Given the description of an element on the screen output the (x, y) to click on. 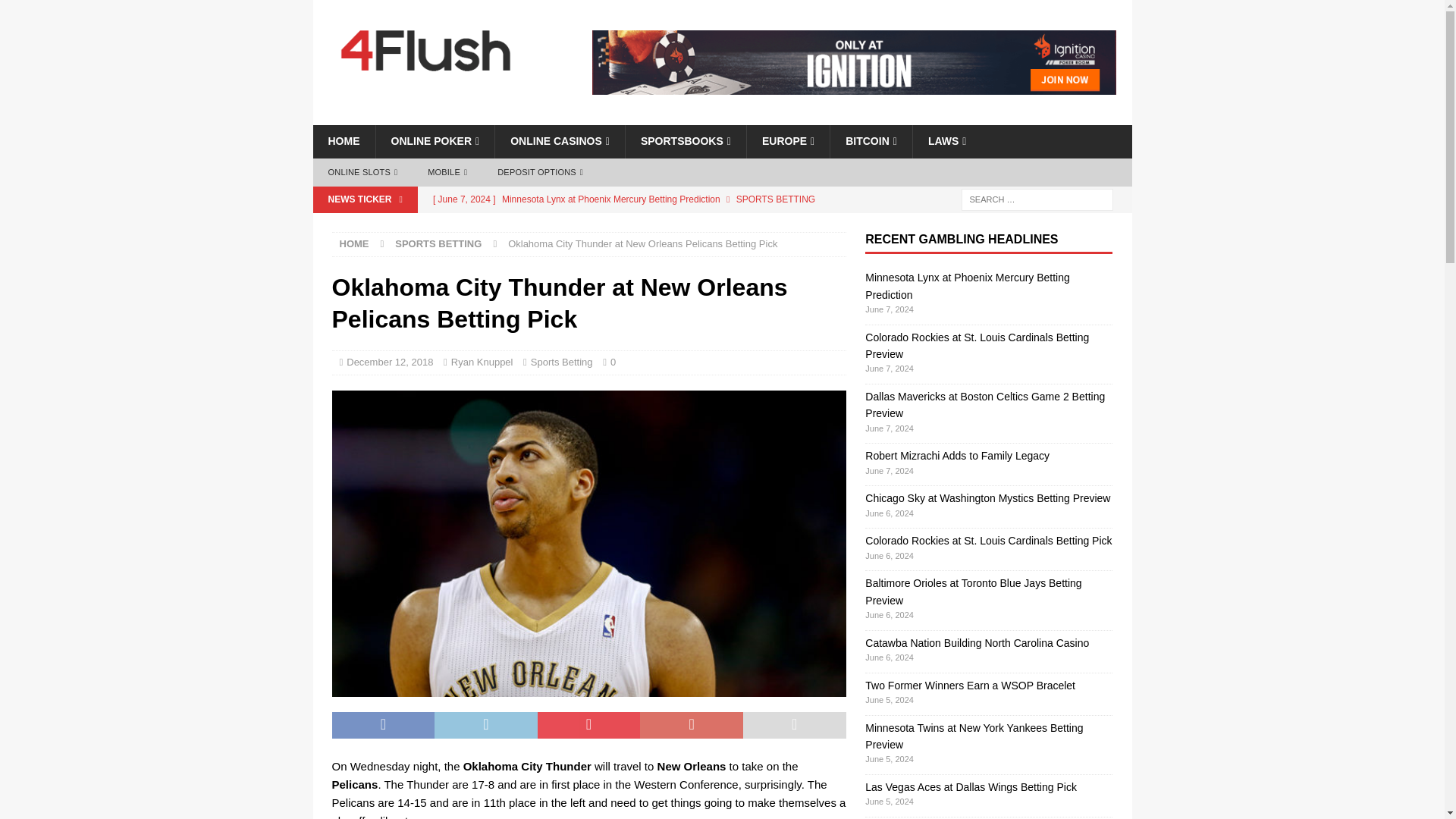
Online Poker (434, 141)
Sportsbooks (684, 141)
Bitcoin Gambling (870, 141)
European Gambling Sites (787, 141)
Online Casinos (559, 141)
Minnesota Lynx at Phoenix Mercury Betting Prediction (634, 199)
Colorado Rockies at St. Louis Cardinals Betting Preview (634, 225)
